Given the description of an element on the screen output the (x, y) to click on. 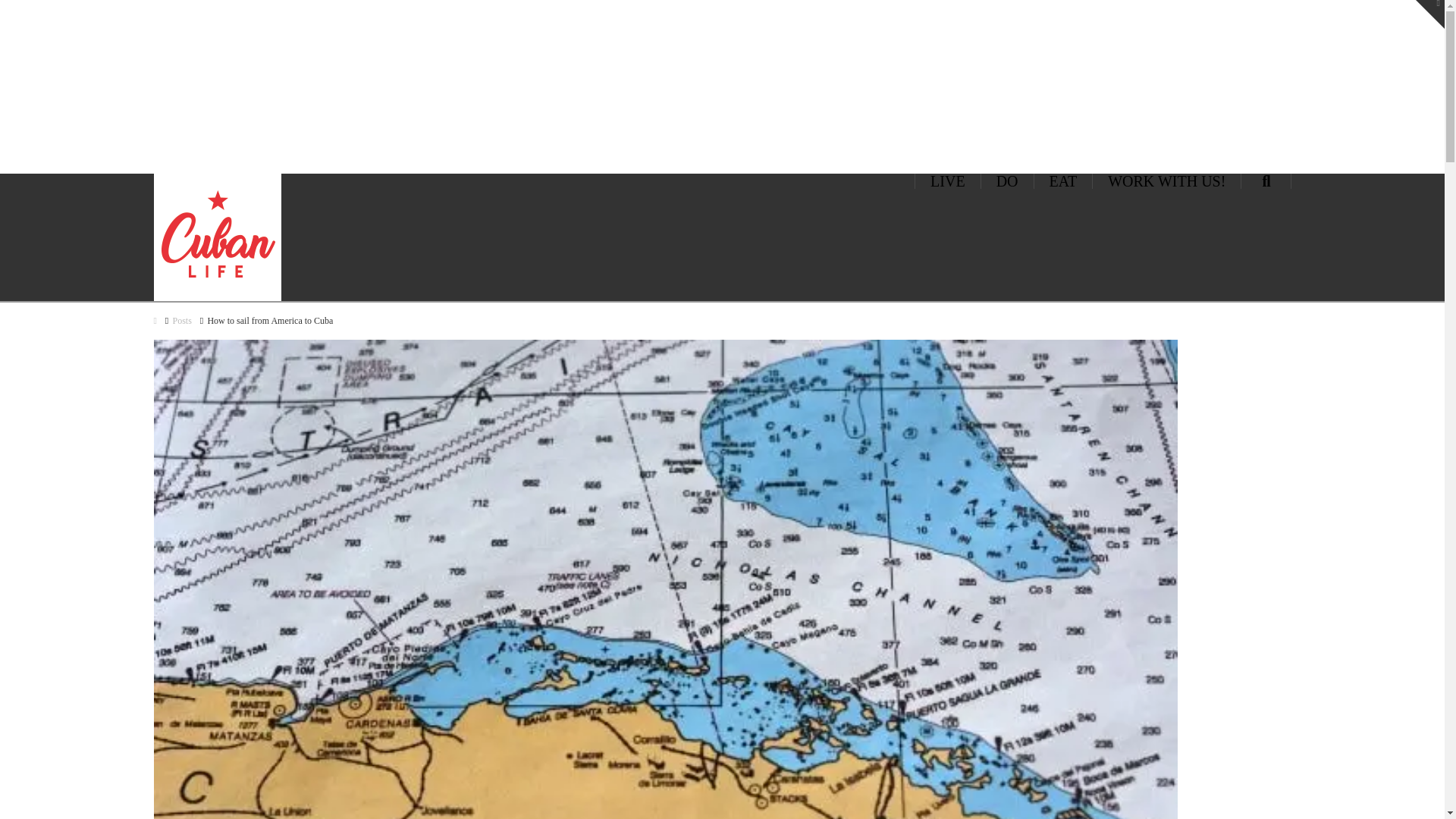
DO (1007, 181)
You Are Here (269, 320)
EAT (1063, 181)
Home (153, 320)
WORK WITH US! (1167, 181)
Posts (180, 320)
How to sail from America to Cuba (269, 320)
LIVE (947, 181)
